Given the description of an element on the screen output the (x, y) to click on. 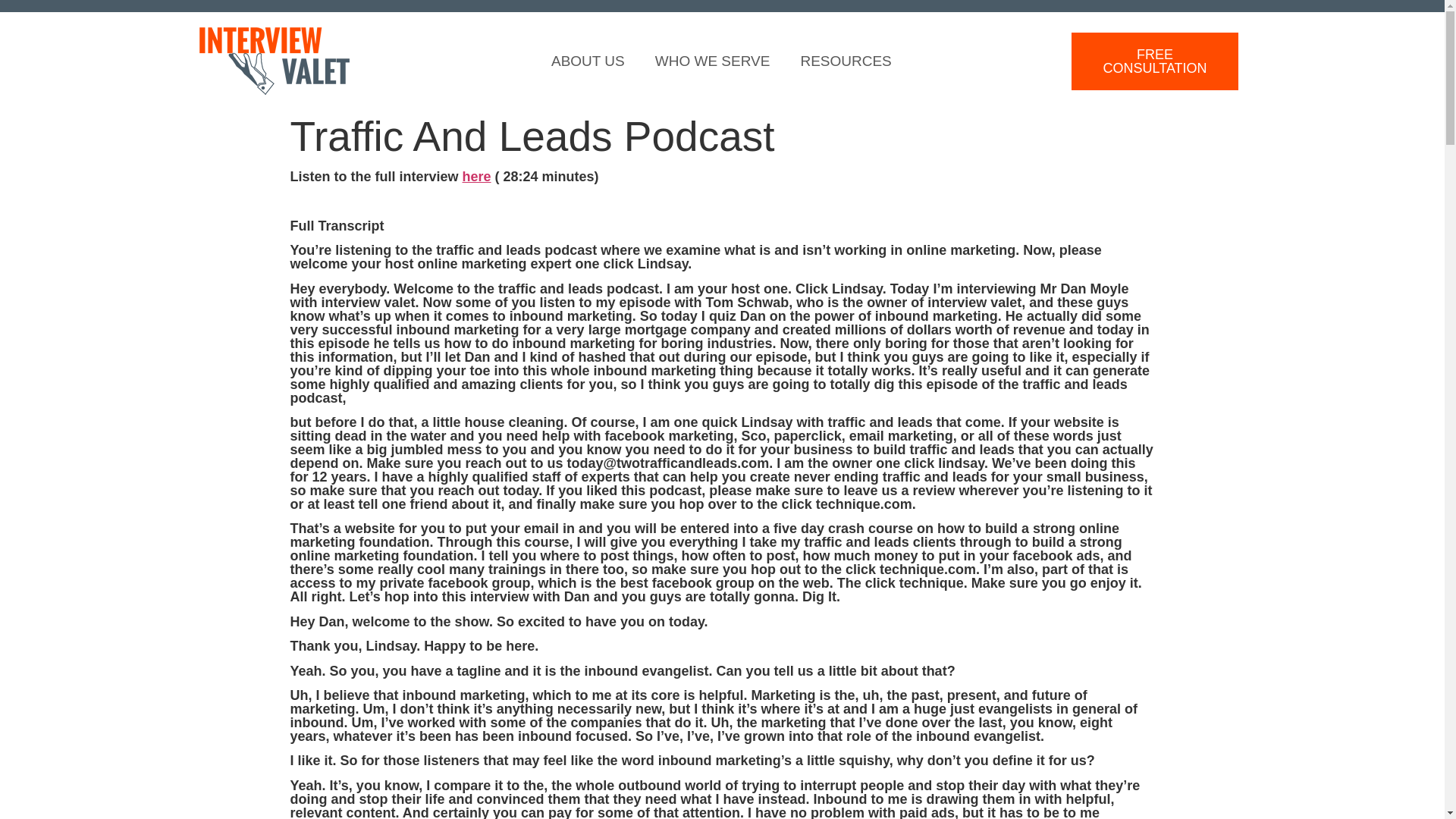
here (477, 176)
FREE CONSULTATION (1154, 60)
WHO WE SERVE (713, 60)
ABOUT US (587, 60)
RESOURCES (844, 60)
